Given the description of an element on the screen output the (x, y) to click on. 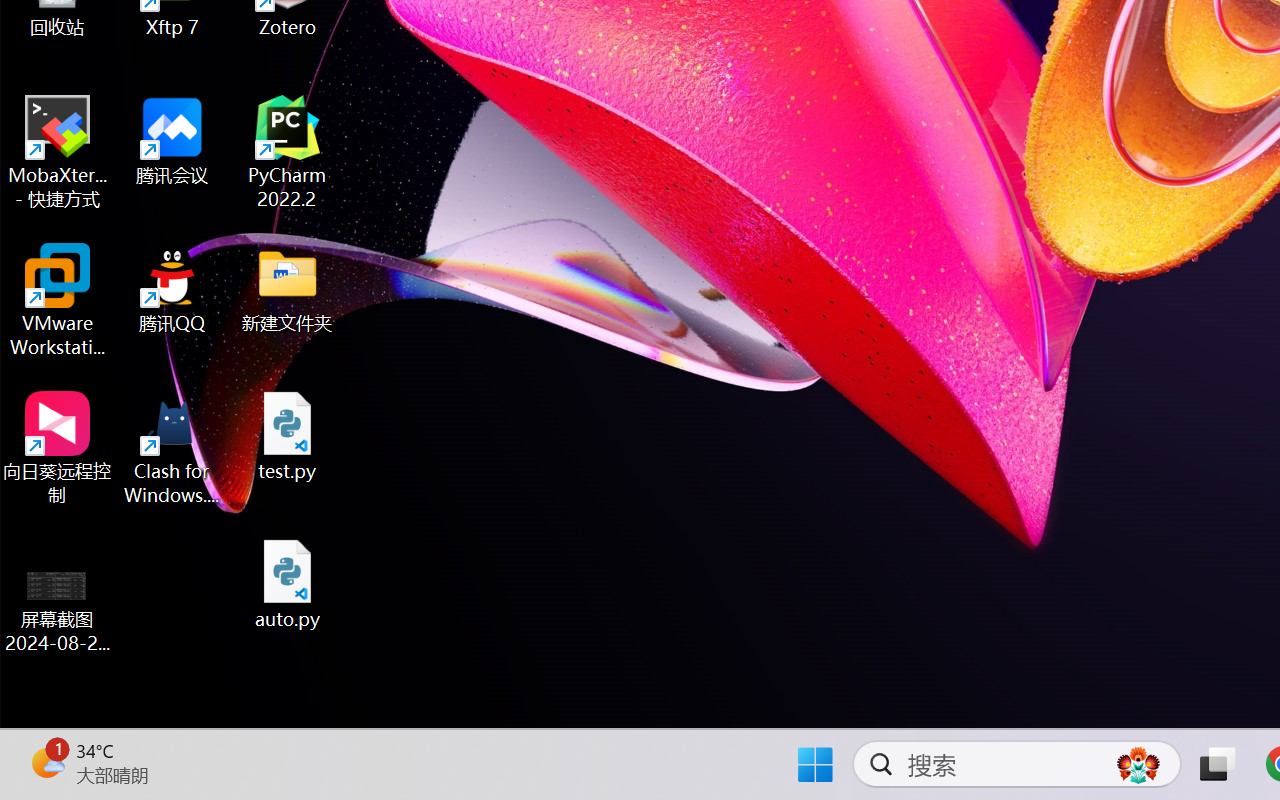
auto.py (287, 584)
VMware Workstation Pro (57, 300)
